Given the description of an element on the screen output the (x, y) to click on. 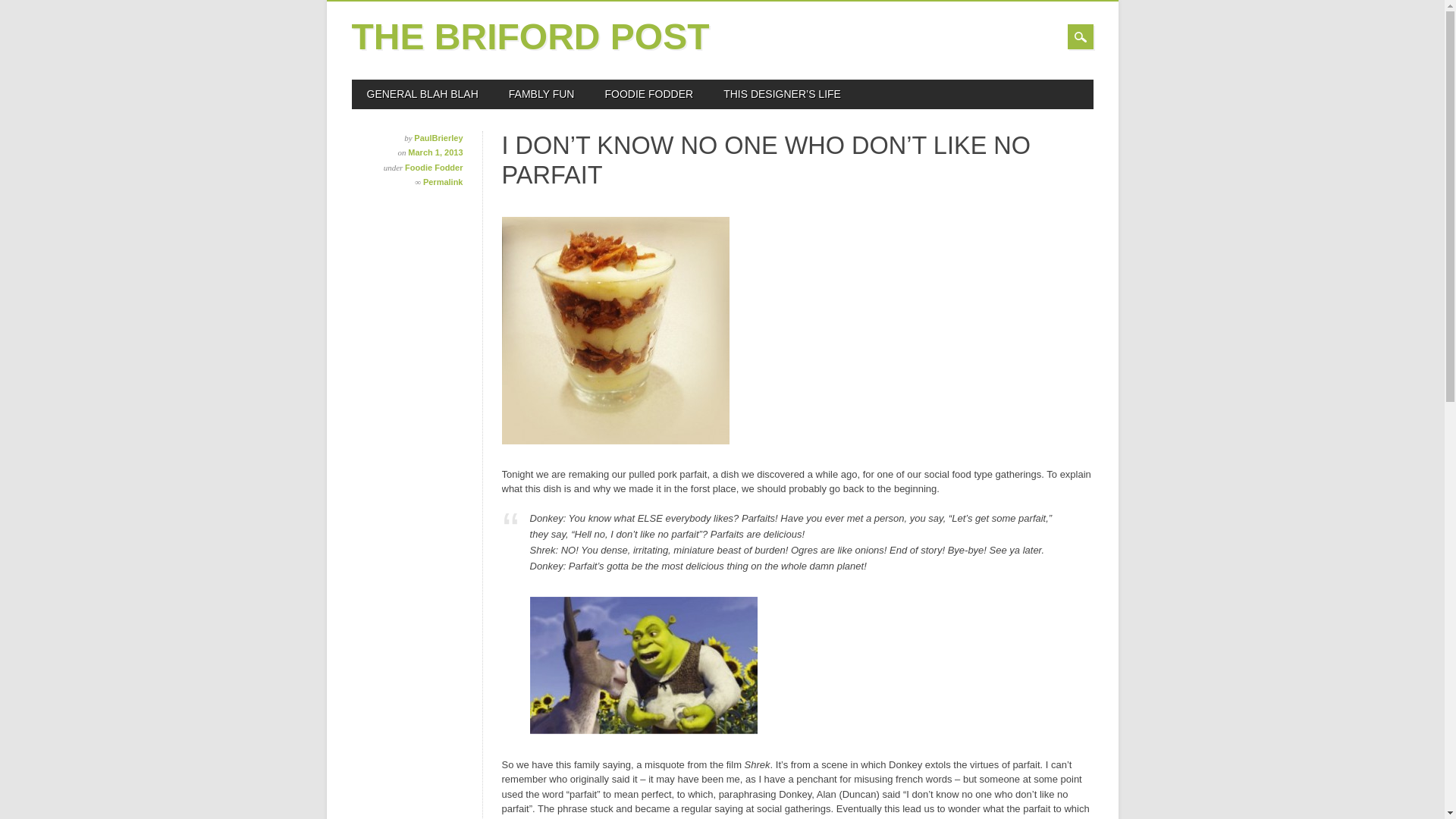
Foodie Fodder (433, 166)
7:41 pm (435, 152)
FAMBLY FUN (541, 94)
PaulBrierley (438, 137)
Permalink (443, 181)
View all posts in Foodie Fodder (433, 166)
Skip to content (384, 86)
THE BRIFORD POST (531, 36)
GENERAL BLAH BLAH (422, 94)
FOODIE FODDER (648, 94)
March 1, 2013 (435, 152)
View all posts by PaulBrierley (438, 137)
The Briford Post (531, 36)
Skip to content (384, 86)
